Given the description of an element on the screen output the (x, y) to click on. 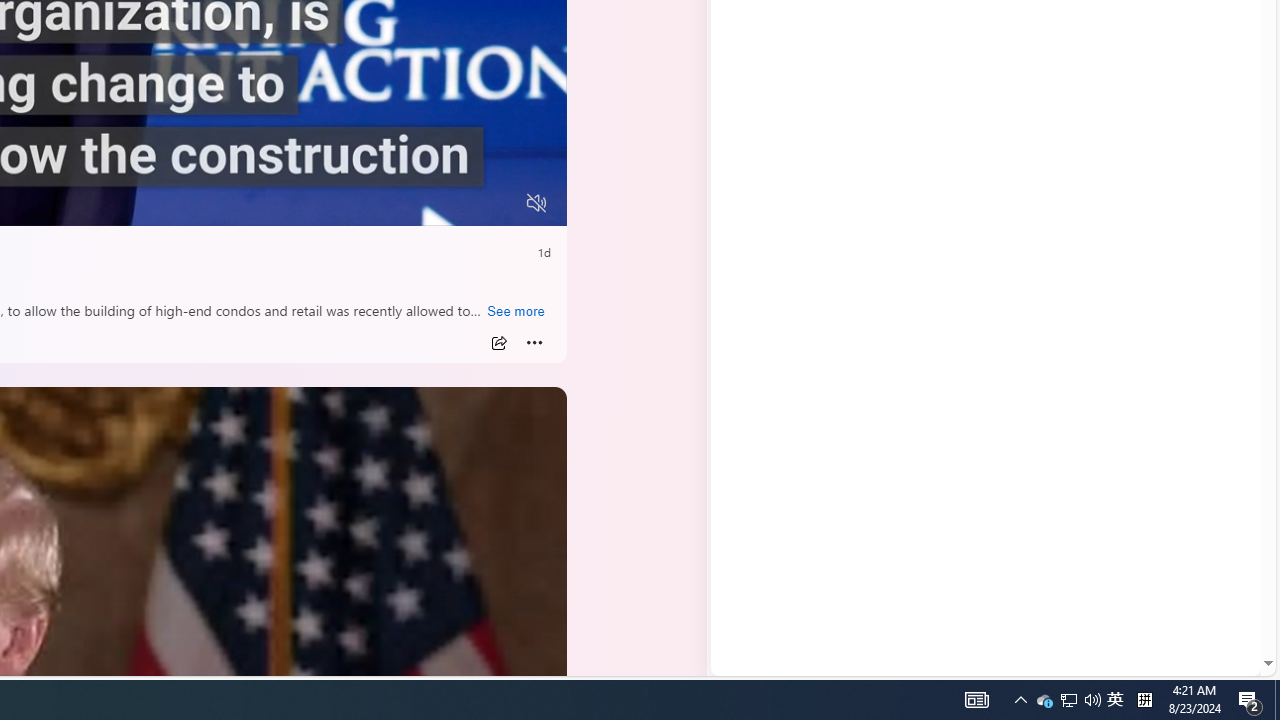
Nordace (798, 337)
See more (515, 312)
Captions (457, 203)
Feedback (1185, 659)
Class: at-item inline-watch (534, 343)
Share (498, 343)
CNN (770, 12)
Ad (758, 337)
More (534, 343)
Ad Choice (1008, 336)
